Given the description of an element on the screen output the (x, y) to click on. 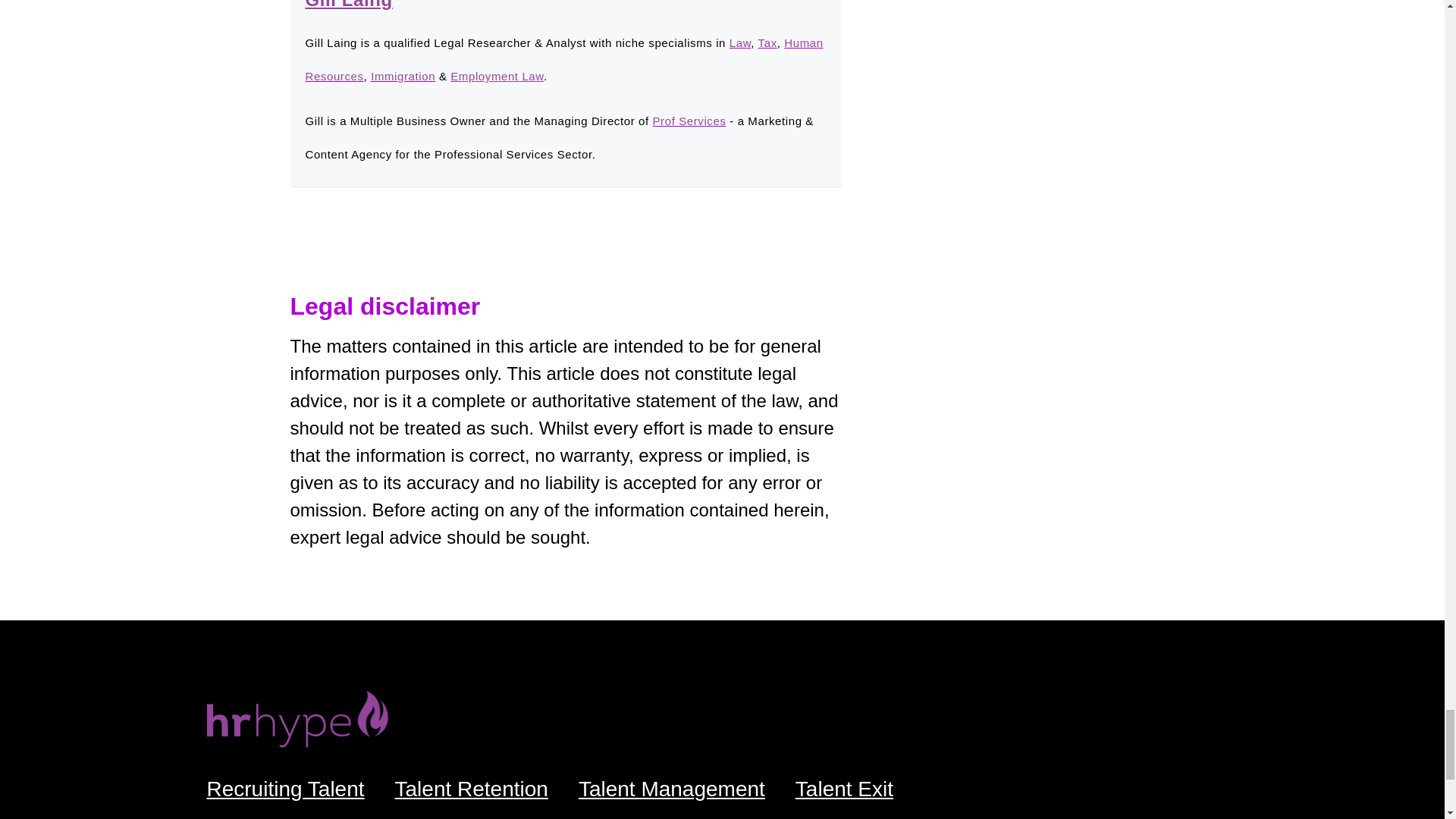
Employment Law (496, 75)
Talent Retention (471, 789)
Gill Laing (347, 4)
Human Resources (563, 59)
Law (740, 42)
Recruiting Talent (284, 789)
Tax (767, 42)
Immigration (403, 75)
Prof Services (688, 120)
Talent Management (671, 789)
